Given the description of an element on the screen output the (x, y) to click on. 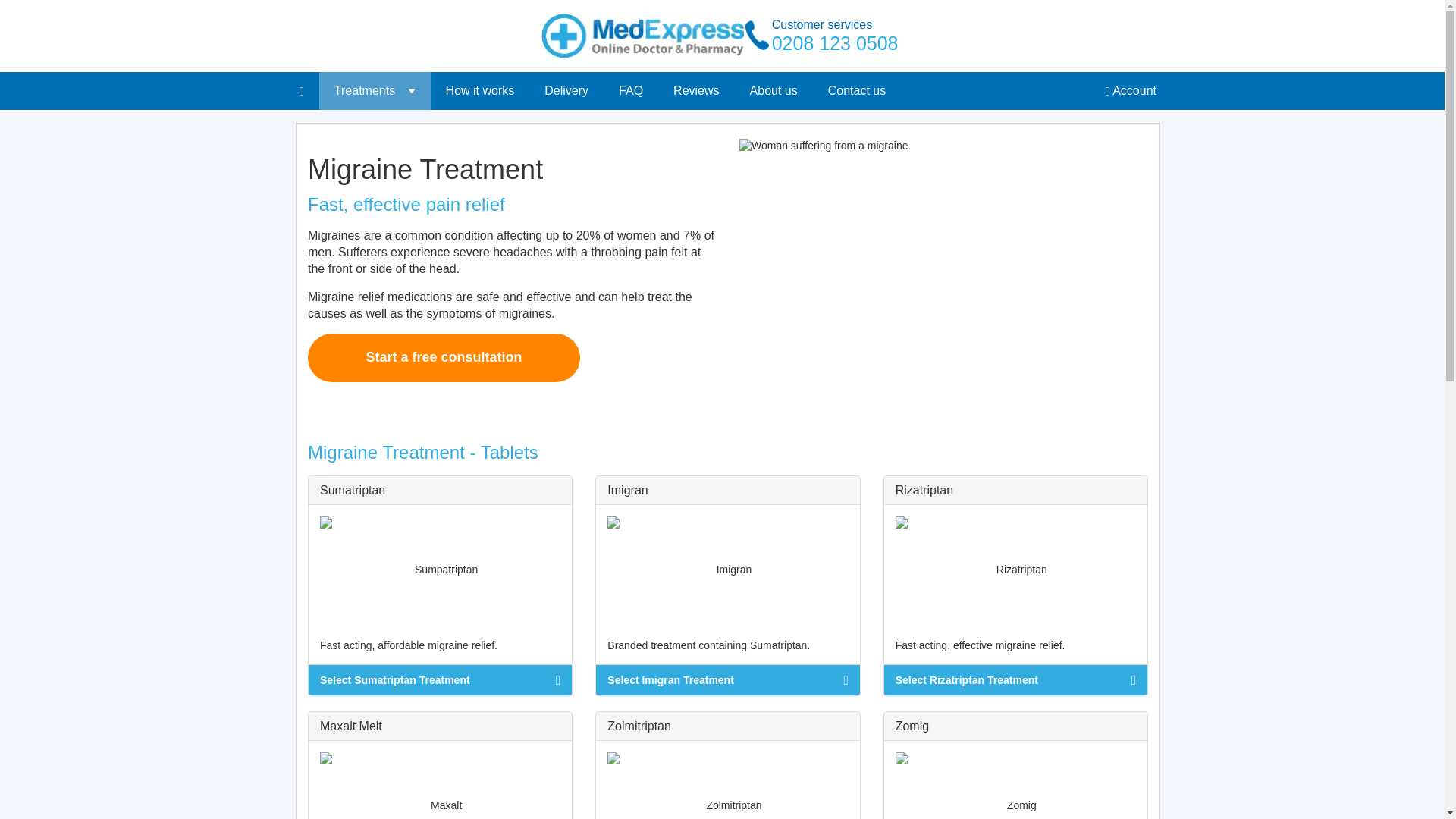
Reviews (695, 90)
Treatments (374, 90)
0208 123 0508 (834, 43)
FAQ (631, 90)
Account (1131, 90)
Delivery (566, 90)
About us (773, 90)
Contact us (856, 90)
How it works (479, 90)
